Given the description of an element on the screen output the (x, y) to click on. 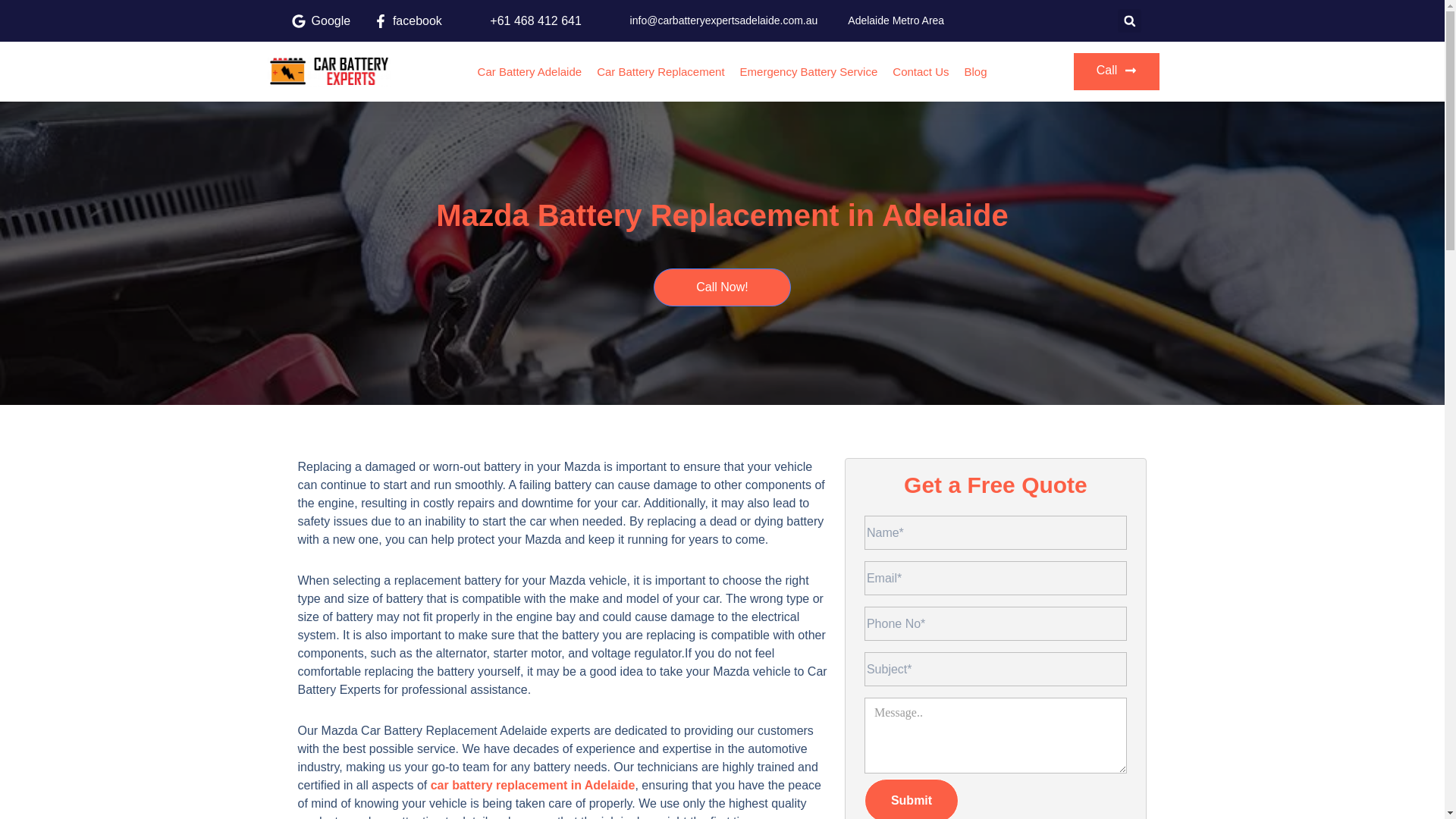
Call (1117, 71)
Submit (911, 798)
Submit (911, 798)
car battery replacement in Adelaide (532, 784)
Emergency Battery Service (808, 71)
logo (328, 71)
Google (319, 20)
Skip to content (11, 31)
Car Battery Replacement (659, 71)
Car Battery Adelaide (529, 71)
Contact Us (920, 71)
facebook (407, 20)
Call Now! (721, 287)
